Given the description of an element on the screen output the (x, y) to click on. 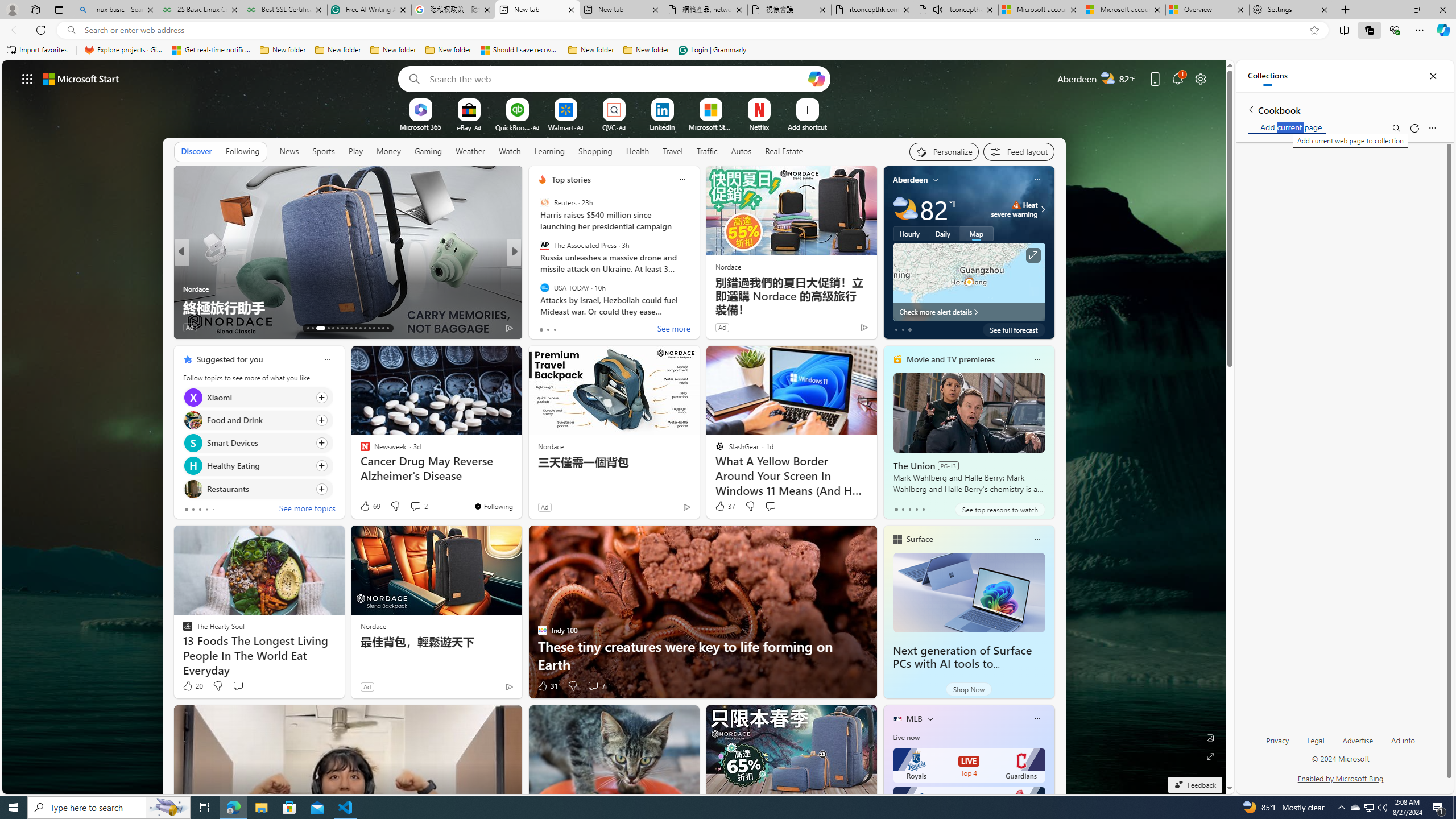
tab-4 (923, 509)
More options menu (1432, 127)
182 Like (545, 327)
Real Simple (537, 288)
Top stories (571, 179)
Reuters (544, 202)
Wealth of Geeks (537, 288)
71 Like (543, 327)
3 Like (541, 327)
